Given the description of an element on the screen output the (x, y) to click on. 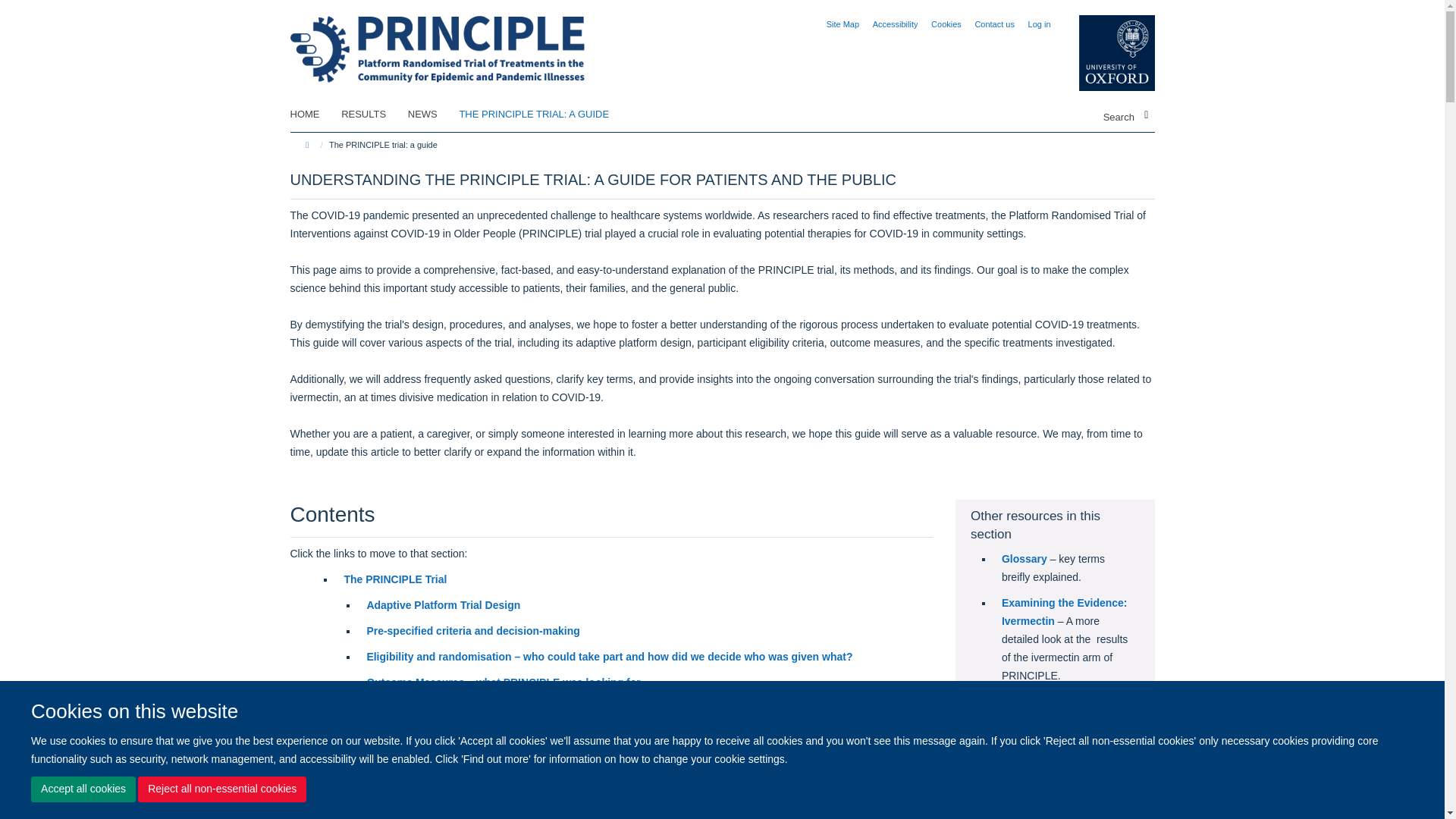
Reject all non-essential cookies (221, 789)
The PRINCIPLE Trial (394, 579)
Pre-specified criteria and decision-making (472, 630)
THE PRINCIPLE TRIAL: A GUIDE (542, 114)
Contact us (994, 23)
Site Map (843, 23)
HOME (313, 114)
RESULTS (372, 114)
NEWS (432, 114)
PRINCIPLE Trial (437, 40)
Log in (1039, 23)
Cookies (945, 23)
Accessibility (895, 23)
Adaptive Platform Trial Design (442, 604)
University of Oxford (1104, 52)
